Given the description of an element on the screen output the (x, y) to click on. 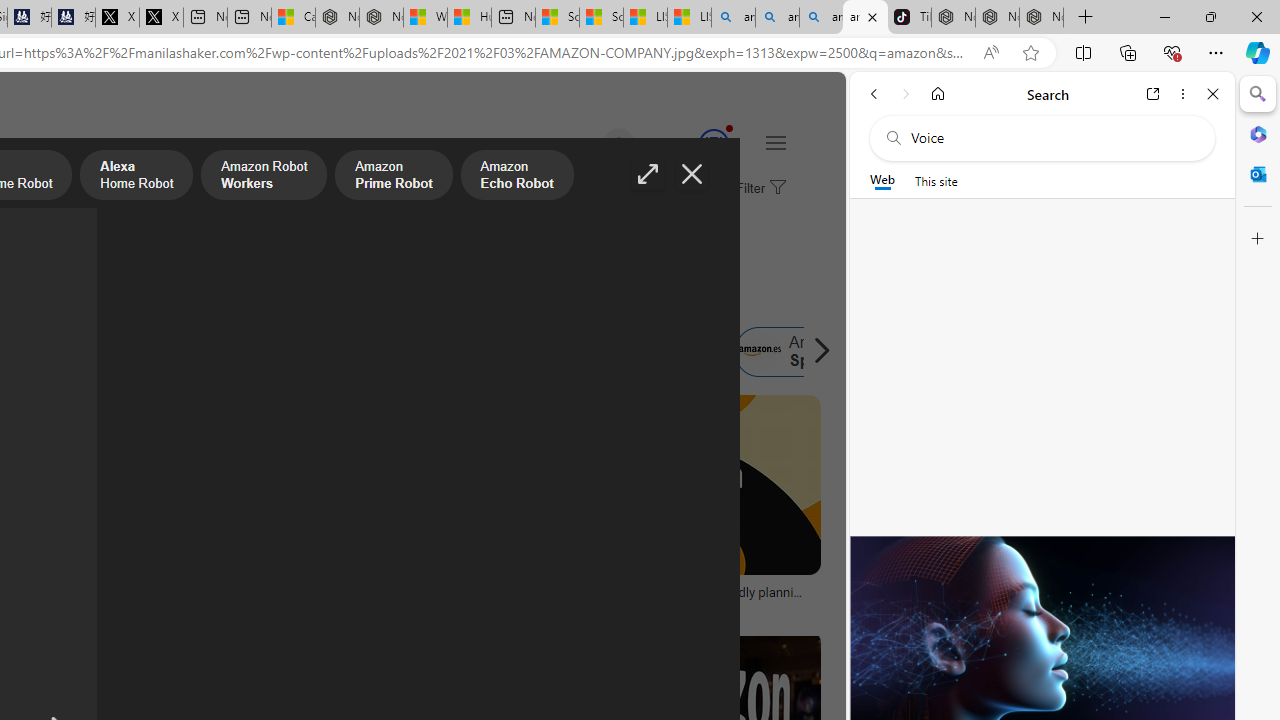
Amazon Prime Membership (44, 351)
amazon - Search (777, 17)
Nordace - Best Sellers (953, 17)
Amazon Spain (800, 351)
Amazon Spain (759, 351)
theverge.com (599, 605)
Scroll right (816, 351)
Microsoft 365 (1258, 133)
